Given the description of an element on the screen output the (x, y) to click on. 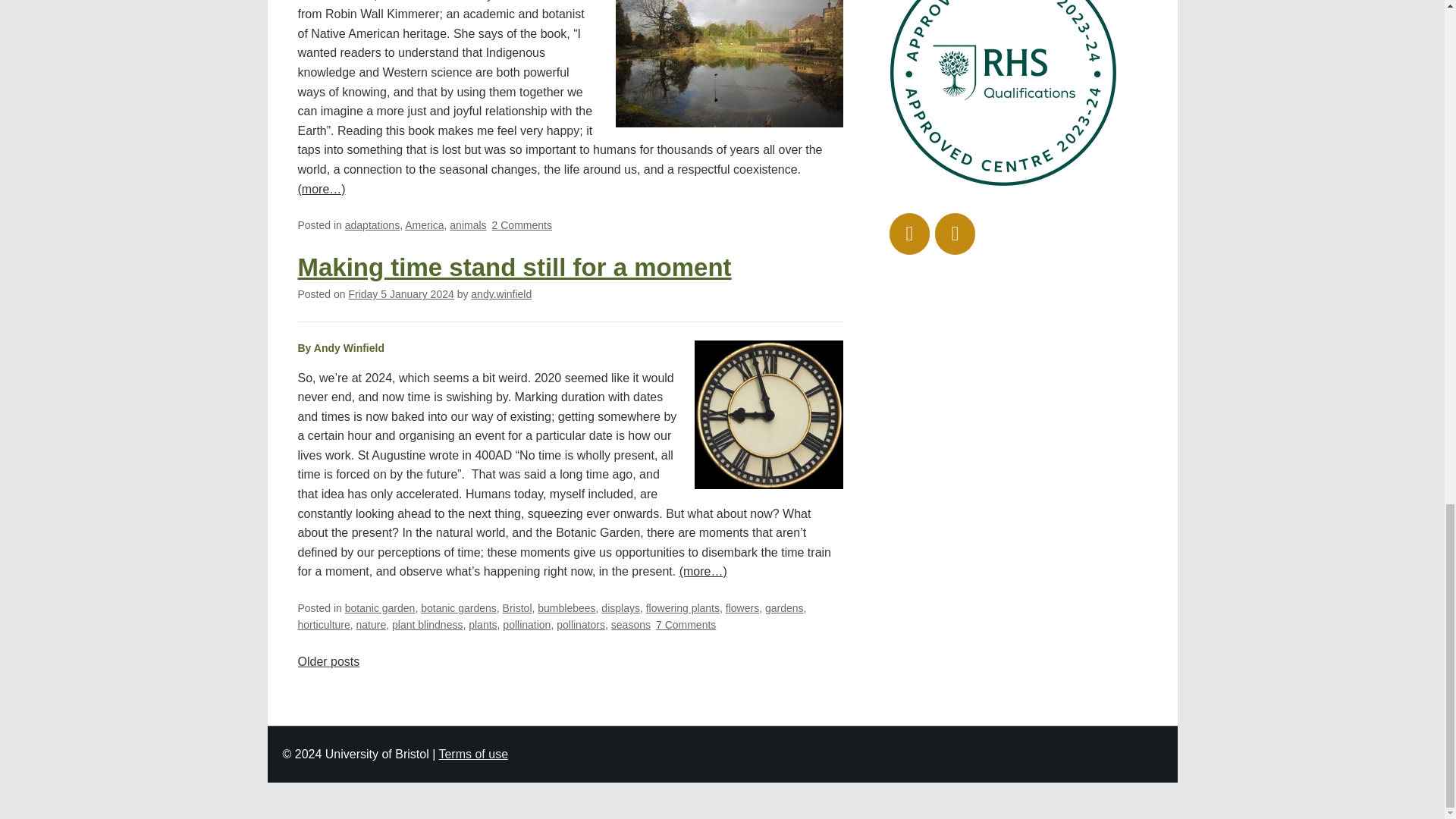
University of Bristol Botanic Garden on Instagram (909, 233)
University of Bristol Botanic Garden on Facebook (954, 233)
